Given the description of an element on the screen output the (x, y) to click on. 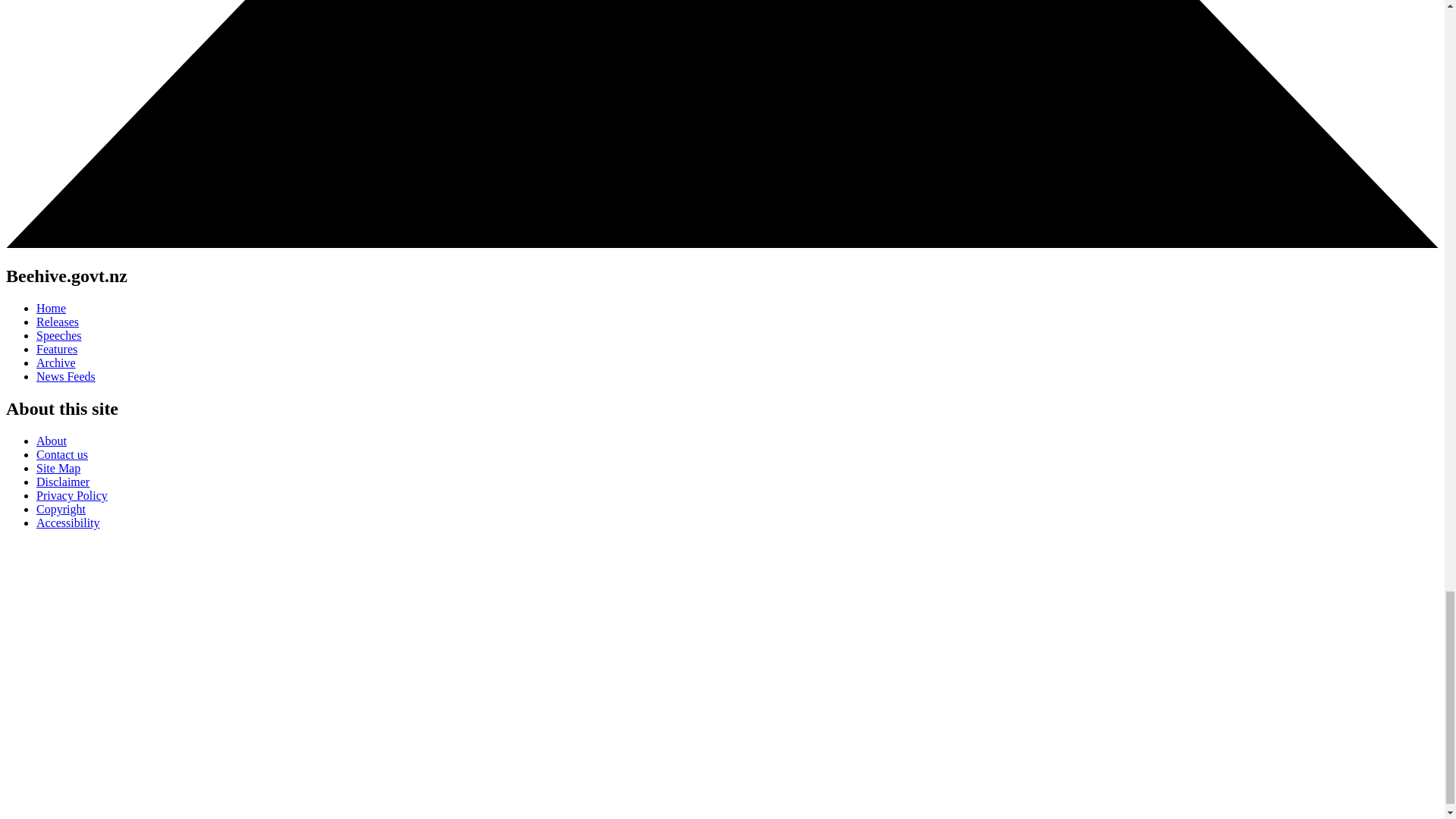
Contact us (61, 454)
Home (50, 308)
Archive (55, 362)
Features (56, 349)
Releases (57, 321)
Privacy Policy (71, 495)
Disclaimer (62, 481)
News Feeds (66, 376)
About (51, 440)
Speeches (58, 335)
